Given the description of an element on the screen output the (x, y) to click on. 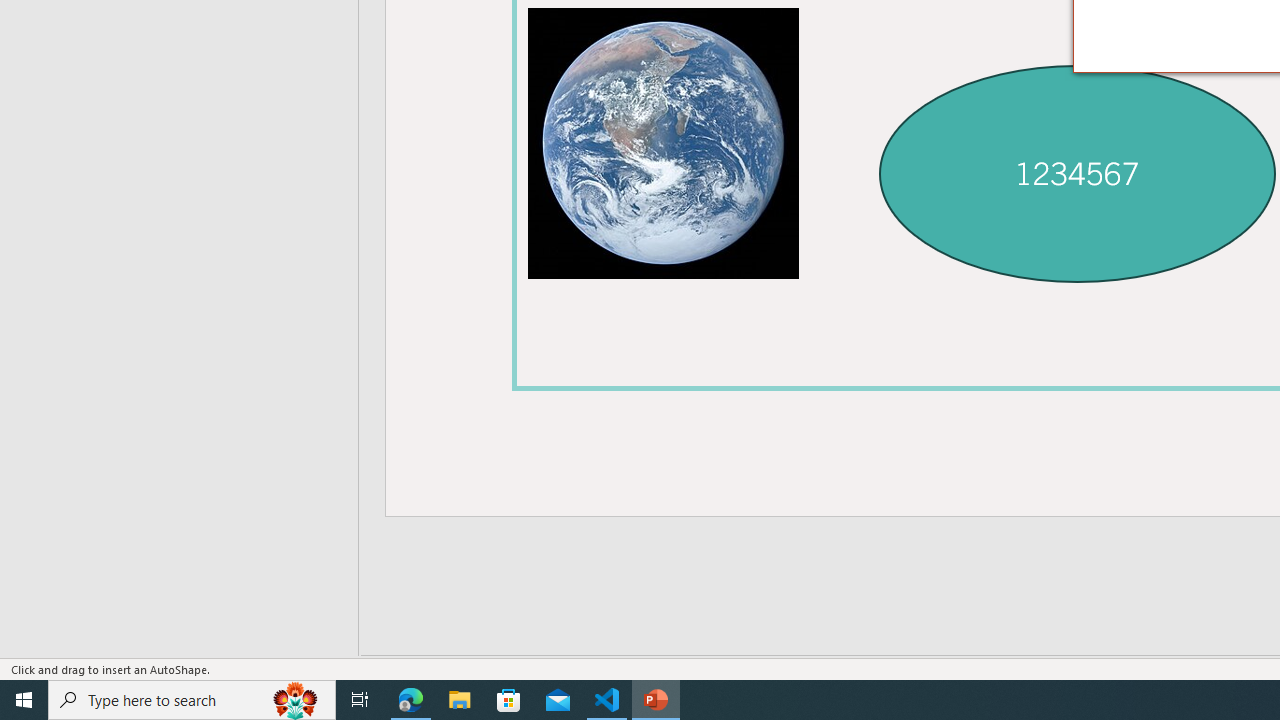
Microsoft Edge - 1 running window (411, 699)
